Given the description of an element on the screen output the (x, y) to click on. 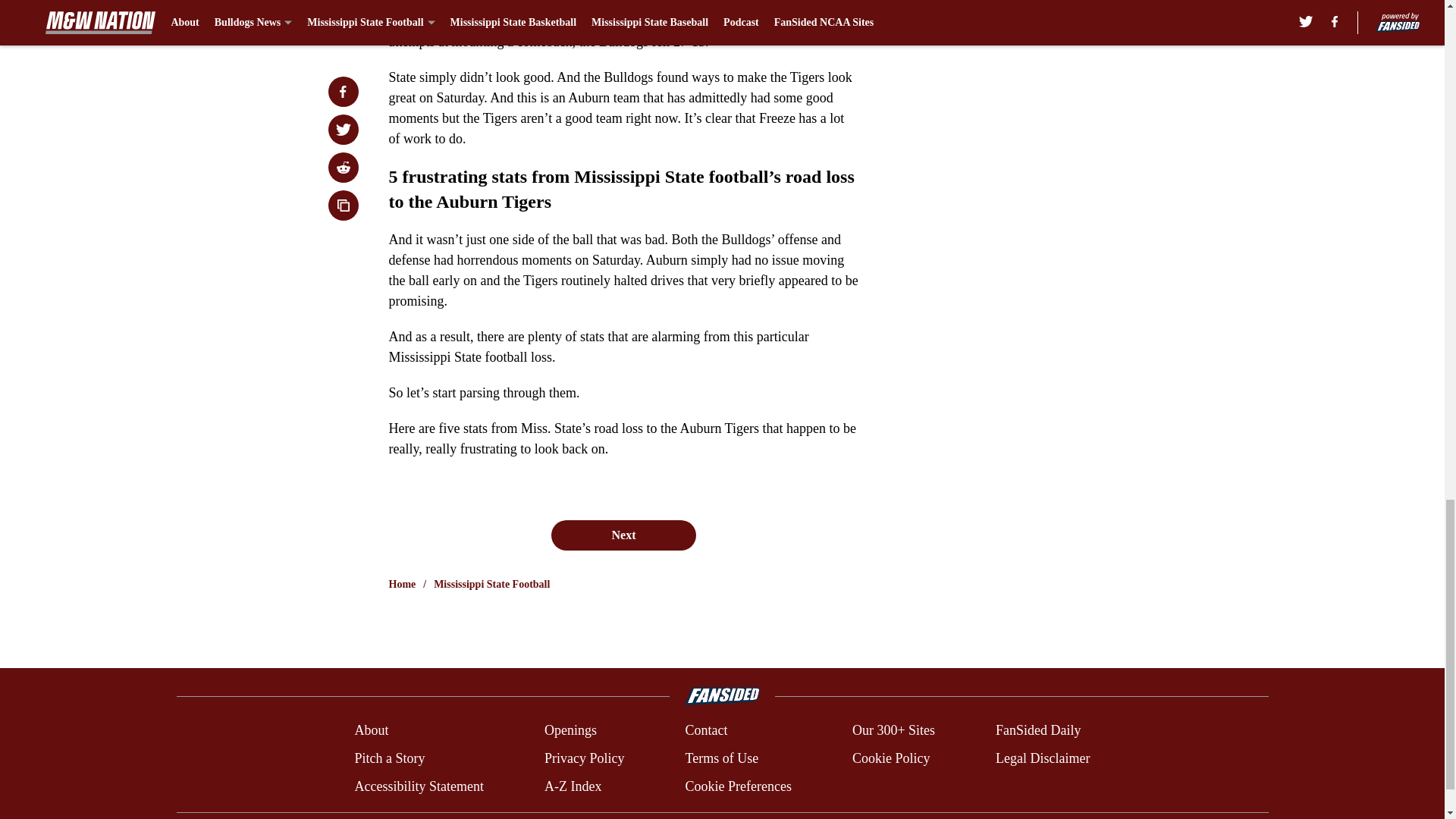
Legal Disclaimer (1042, 758)
Home (401, 584)
FanSided Daily (1038, 730)
Accessibility Statement (418, 786)
Contact (705, 730)
A-Z Index (572, 786)
Terms of Use (721, 758)
About (370, 730)
Openings (570, 730)
Mississippi State Football (491, 584)
